Given the description of an element on the screen output the (x, y) to click on. 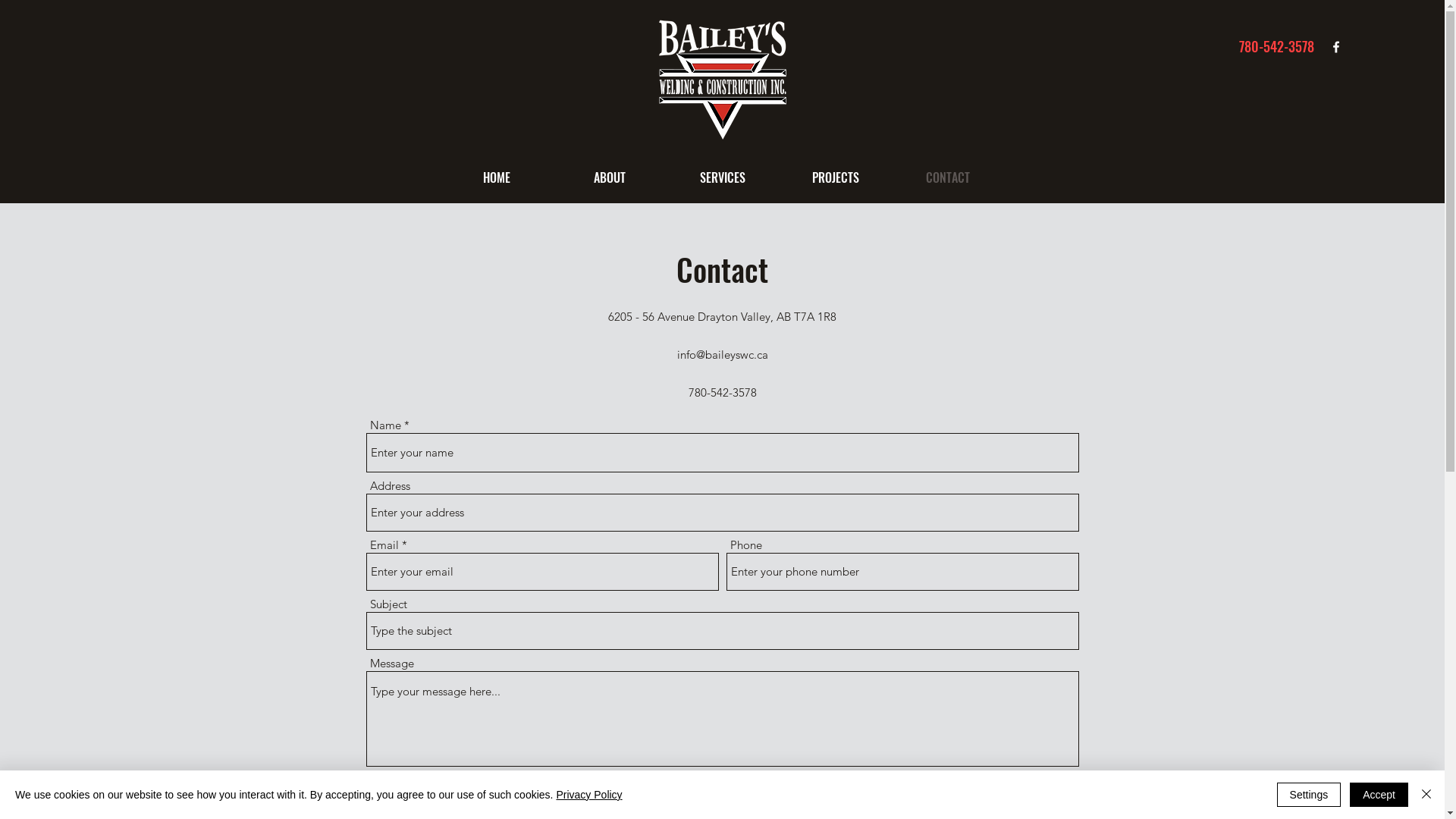
HOME Element type: text (495, 177)
Settings Element type: text (1309, 794)
Privacy Policy Element type: text (588, 794)
Submit Element type: text (722, 794)
ABOUT Element type: text (609, 177)
Accept Element type: text (1378, 794)
SERVICES Element type: text (721, 177)
PROJECTS Element type: text (835, 177)
info@baileyswc.ca Element type: text (721, 354)
CONTACT Element type: text (947, 177)
